Given the description of an element on the screen output the (x, y) to click on. 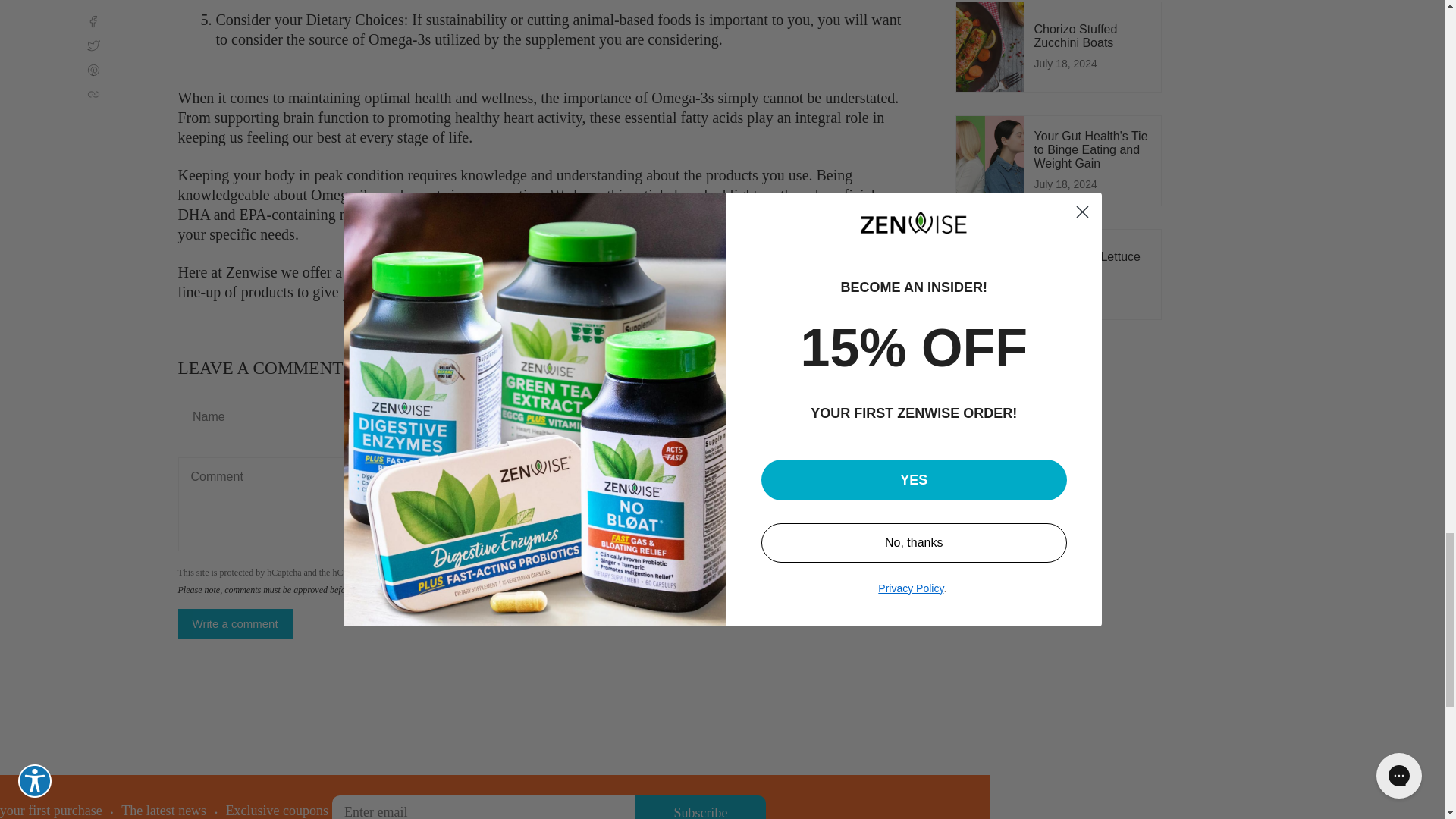
Write a comment (234, 623)
